Given the description of an element on the screen output the (x, y) to click on. 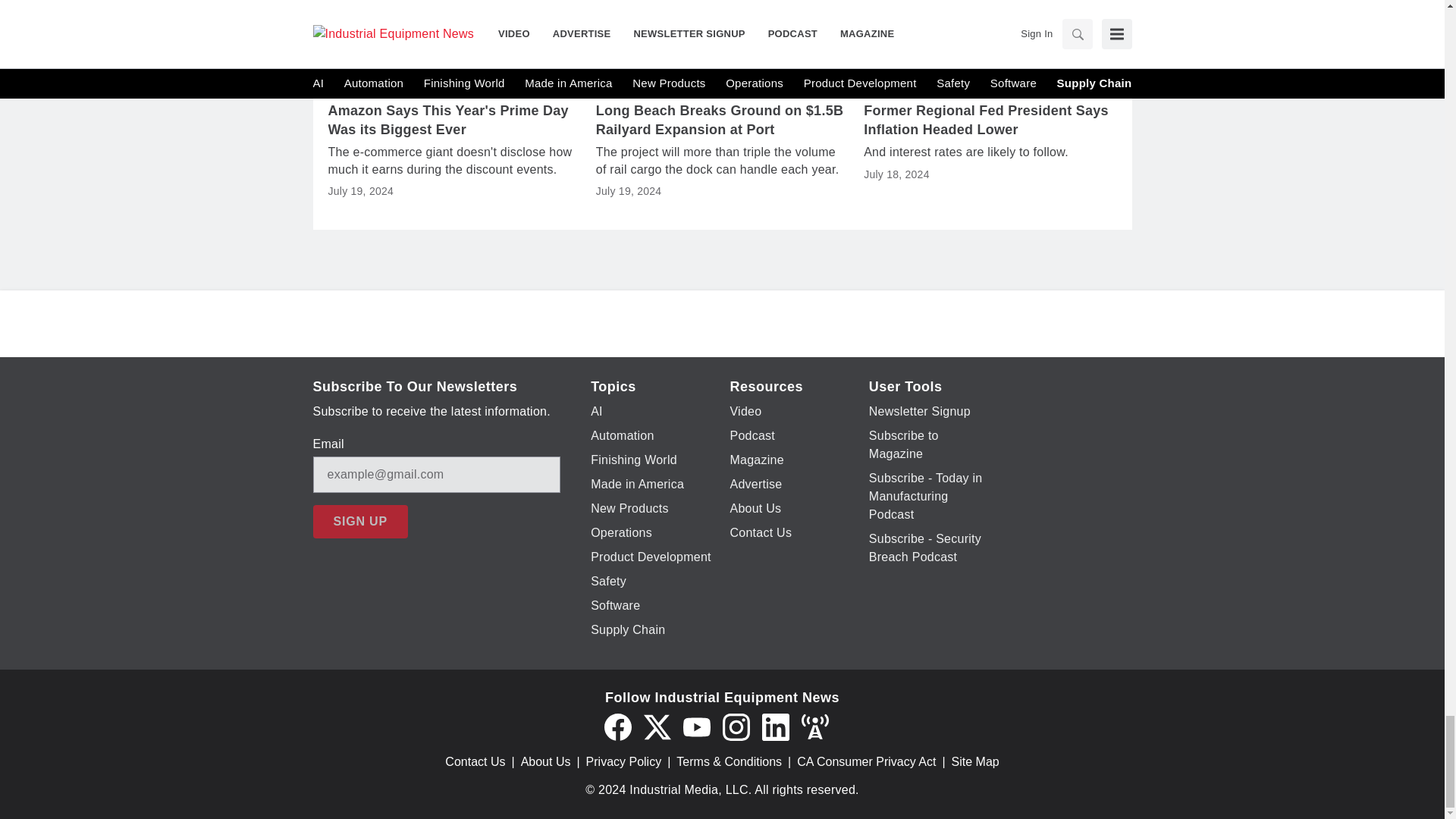
LinkedIn icon (775, 727)
Twitter X icon (656, 727)
Facebook icon (617, 727)
Instagram icon (735, 727)
YouTube icon (696, 727)
